Given the description of an element on the screen output the (x, y) to click on. 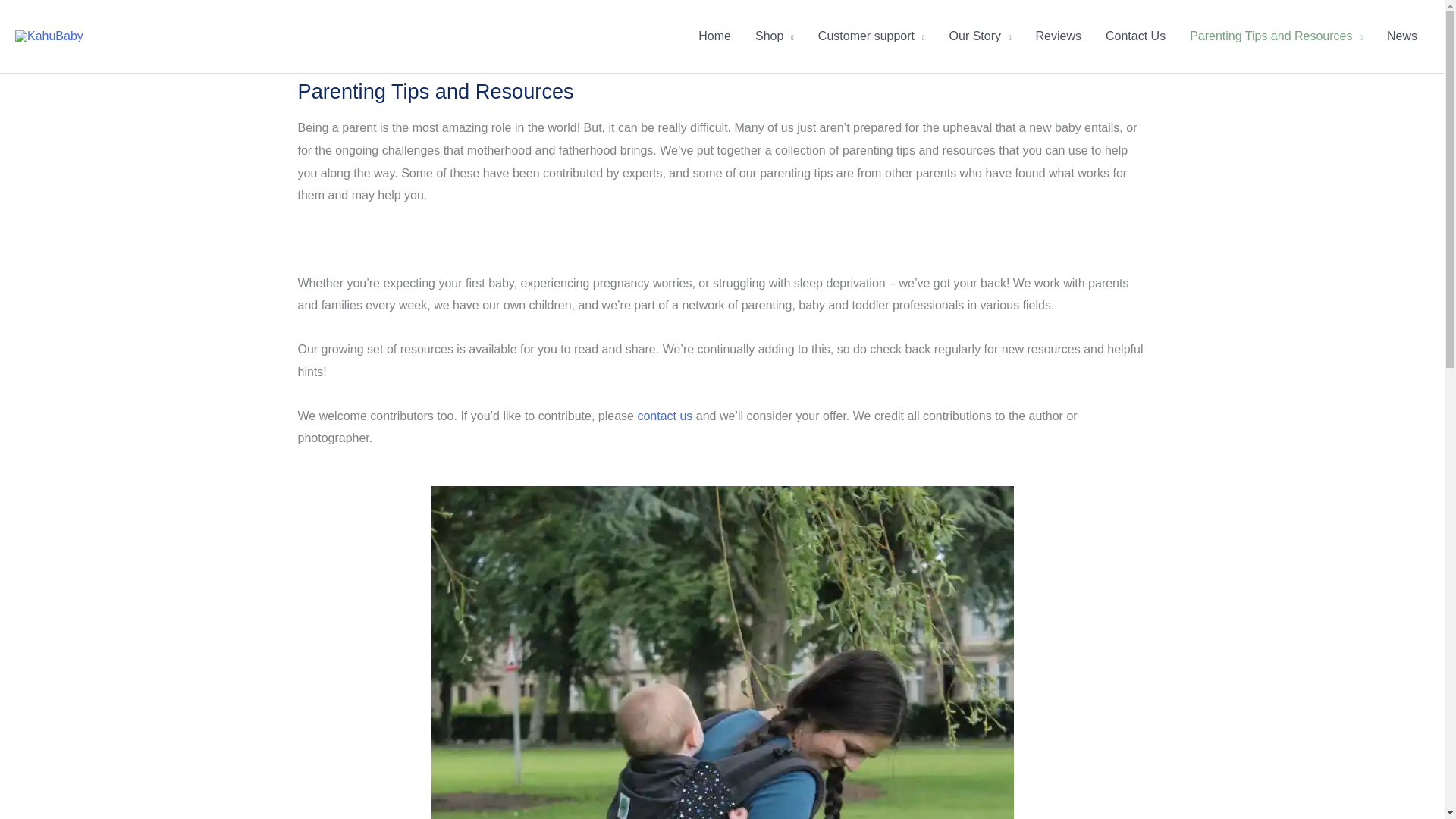
Our Story (980, 36)
Customer support (871, 36)
Shop (774, 36)
Home (713, 36)
Contact Us (1135, 36)
Reviews (1058, 36)
Parenting Tips and Resources (1275, 36)
